Given the description of an element on the screen output the (x, y) to click on. 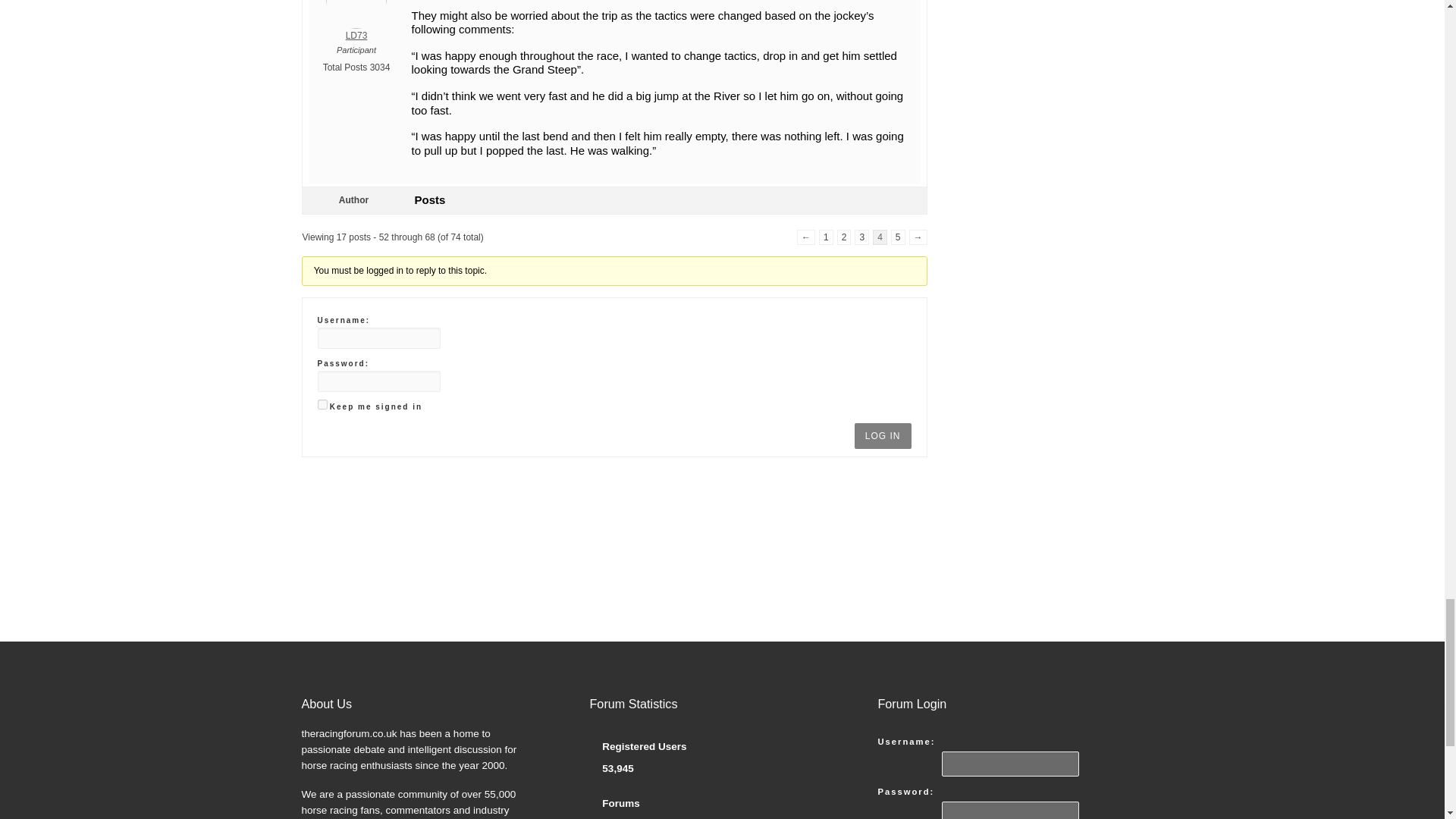
forever (321, 404)
